Given the description of an element on the screen output the (x, y) to click on. 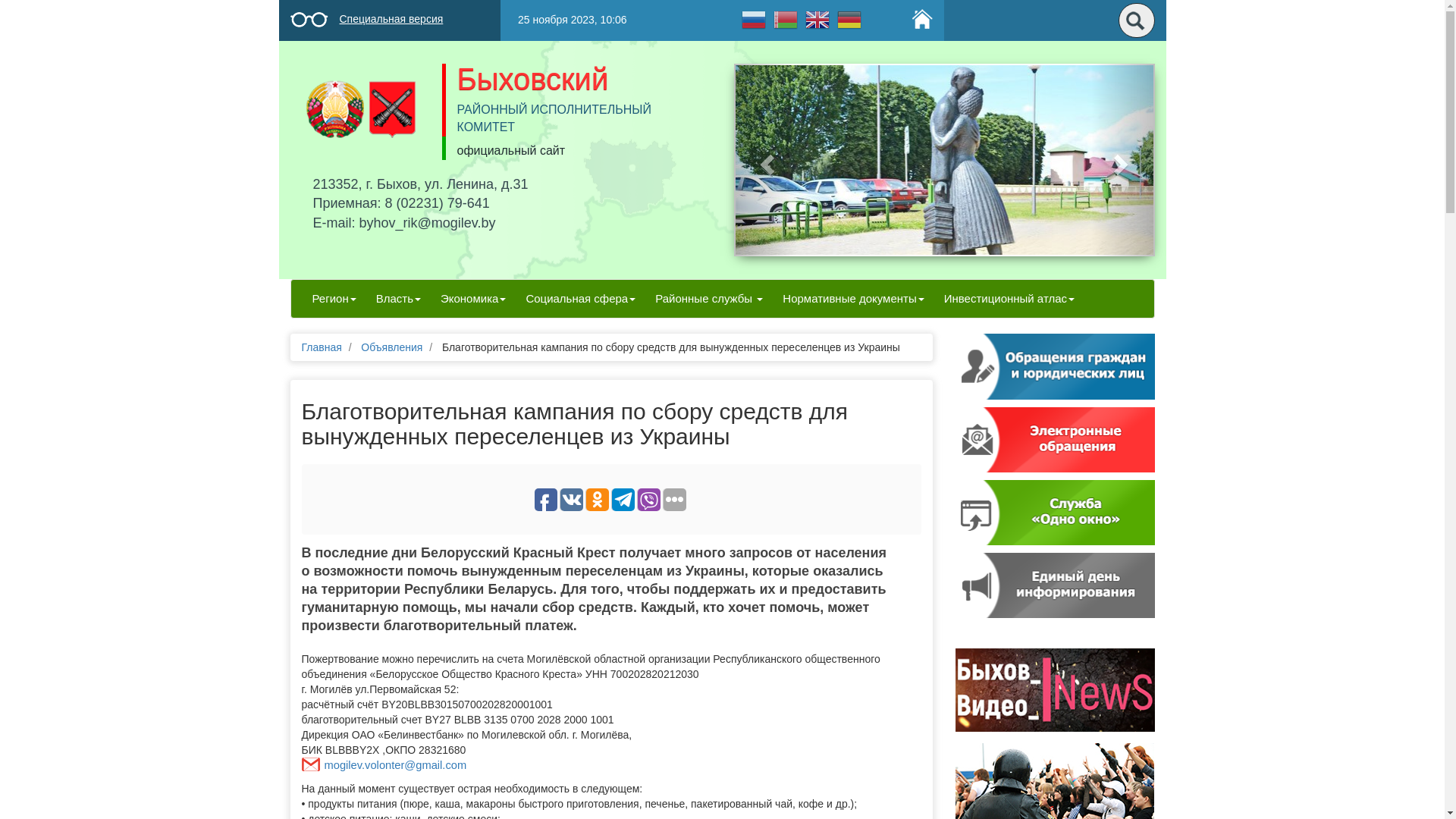
mogilev.volonter@gmail.com Element type: text (384, 765)
Belarusian Element type: hover (784, 18)
German Element type: hover (848, 18)
Russian Element type: hover (752, 18)
English Element type: hover (816, 18)
